Given the description of an element on the screen output the (x, y) to click on. 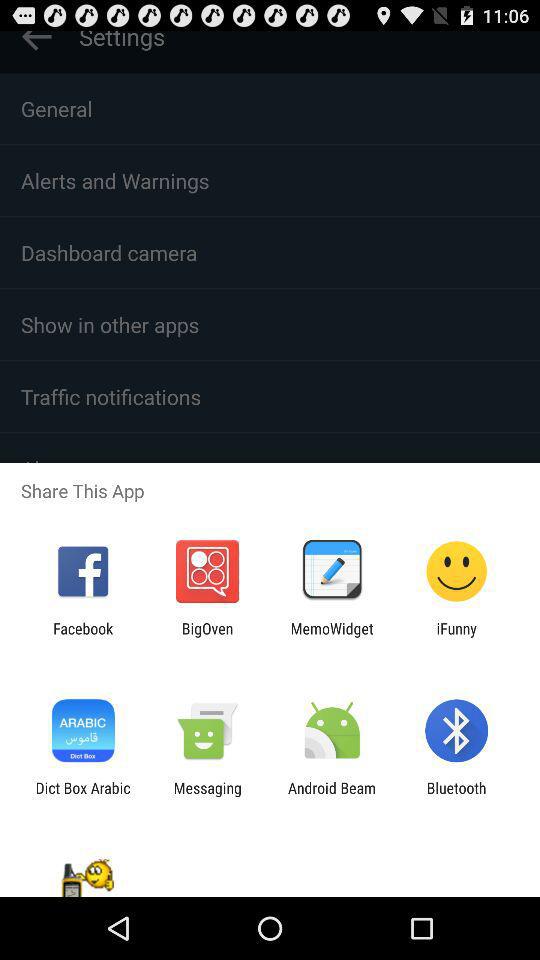
jump to memowidget (331, 637)
